Given the description of an element on the screen output the (x, y) to click on. 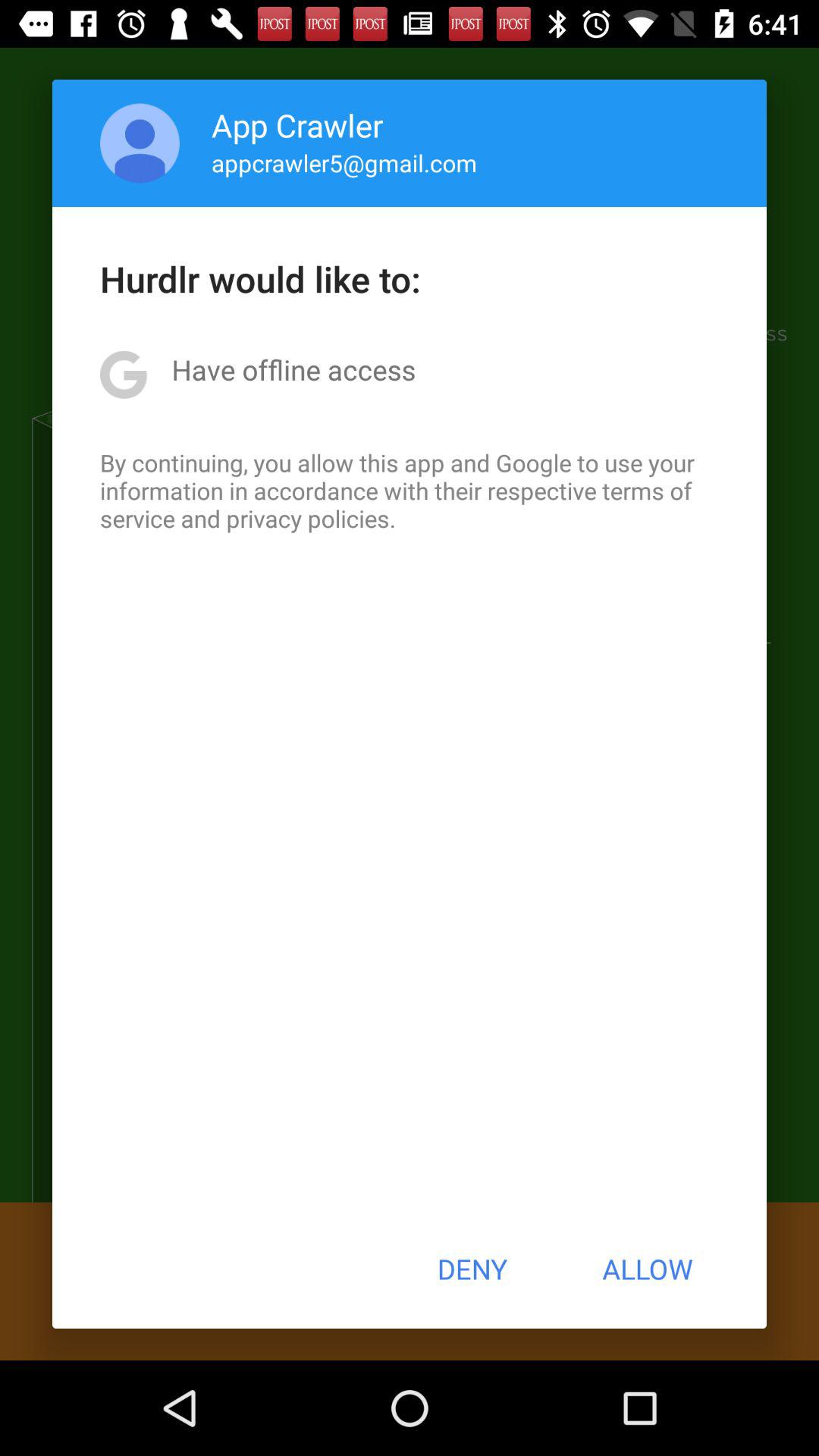
launch app crawler app (297, 124)
